Given the description of an element on the screen output the (x, y) to click on. 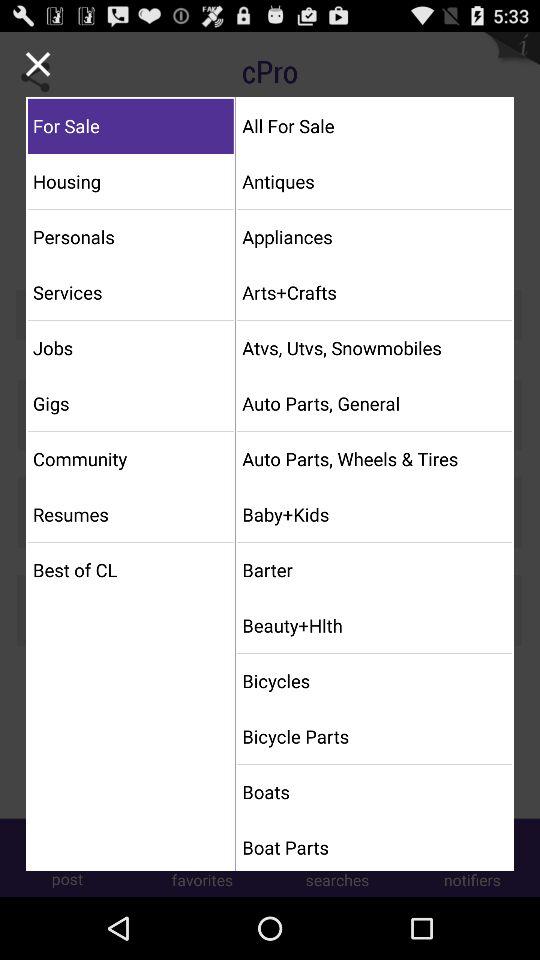
turn on the resumes (130, 514)
